Given the description of an element on the screen output the (x, y) to click on. 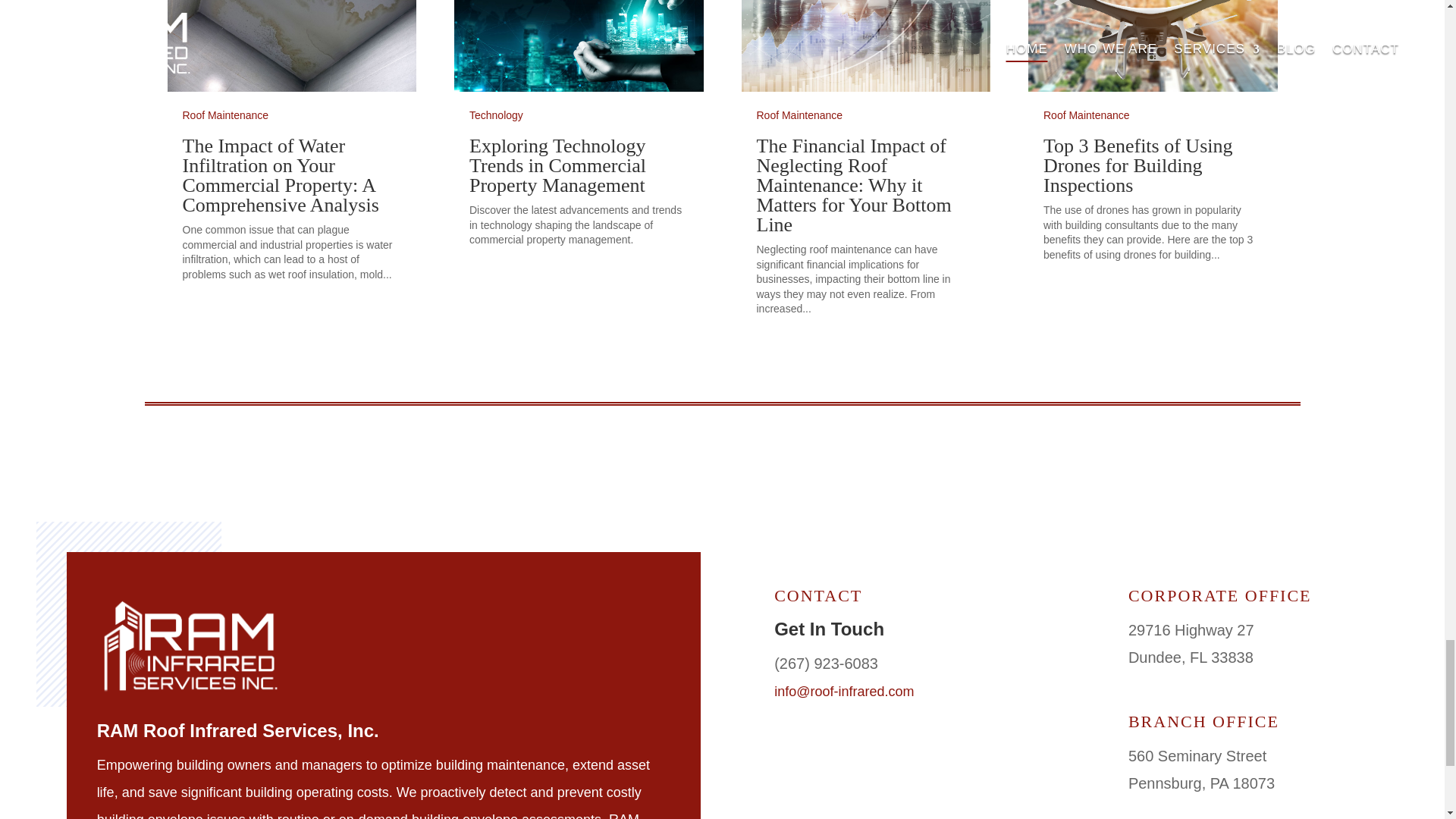
Technology (495, 114)
Roof Maintenance (800, 114)
Roof Maintenance (1086, 114)
Top 3 Benefits of Using Drones for Building Inspections (1138, 165)
Roof Maintenance (224, 114)
RAM-IR-logo-white (191, 647)
